Given the description of an element on the screen output the (x, y) to click on. 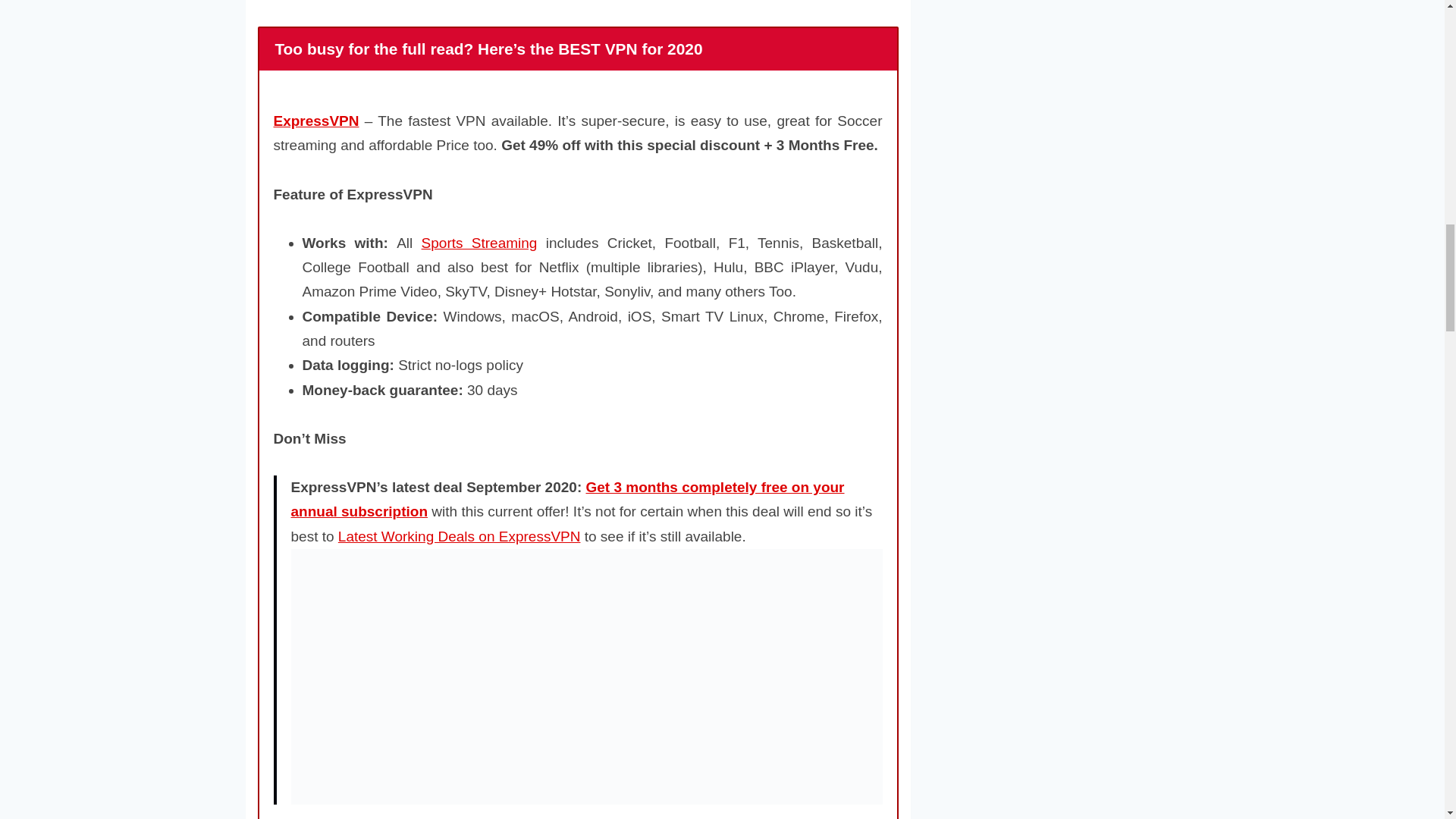
Sports Streaming (479, 242)
Get 3 months completely free on your annual subscription (567, 499)
Expressvpn Order (567, 499)
Latest Working Deals on ExpressVPN (458, 536)
ExpressVPN (315, 120)
